Given the description of an element on the screen output the (x, y) to click on. 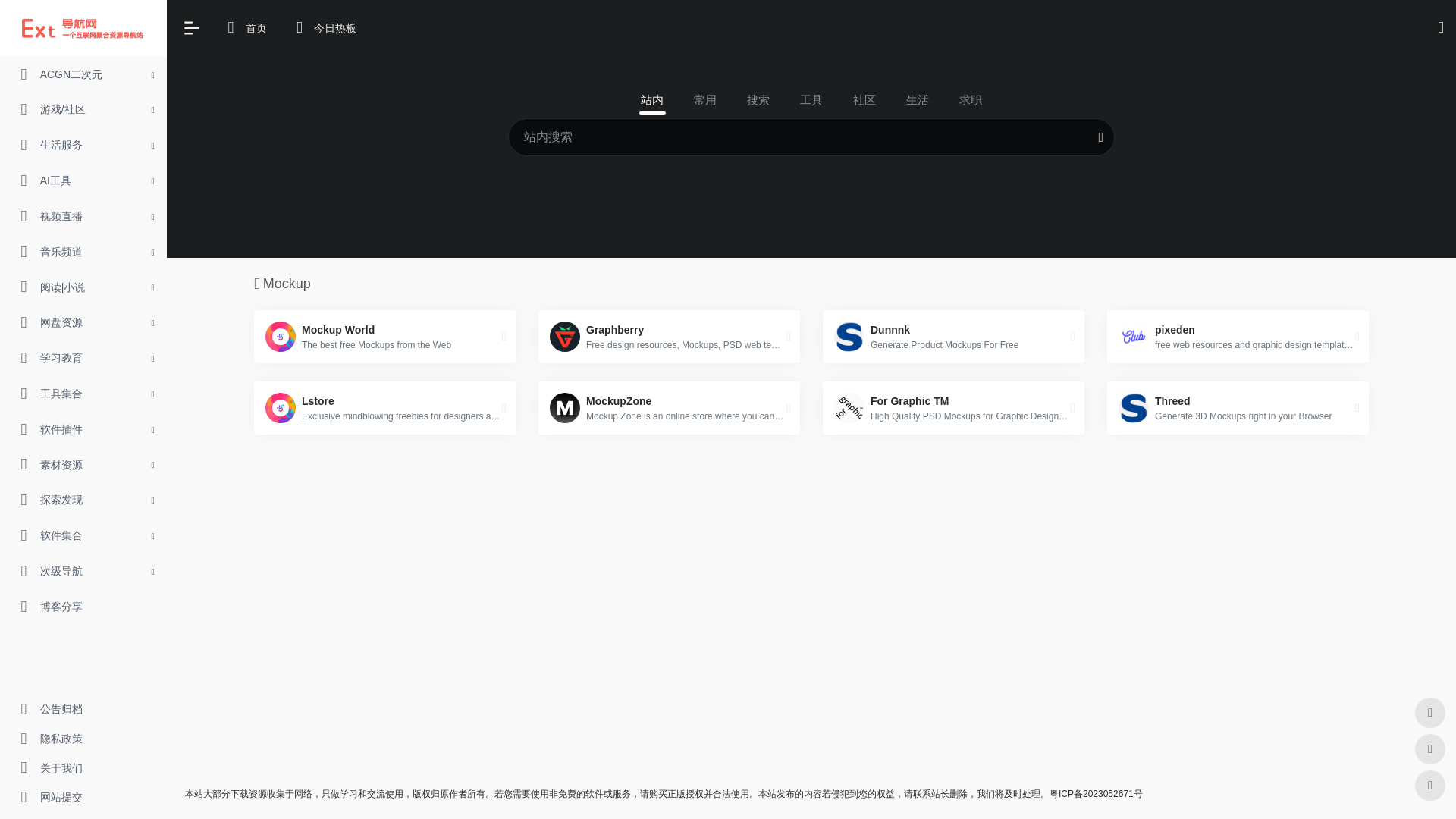
For Graphic TM (953, 407)
pixeden (1237, 336)
MockupZone (668, 407)
Lstore (384, 407)
Threed (1237, 407)
Mockup World (384, 336)
Dunnnk (953, 336)
Graphberry (668, 336)
